Given the description of an element on the screen output the (x, y) to click on. 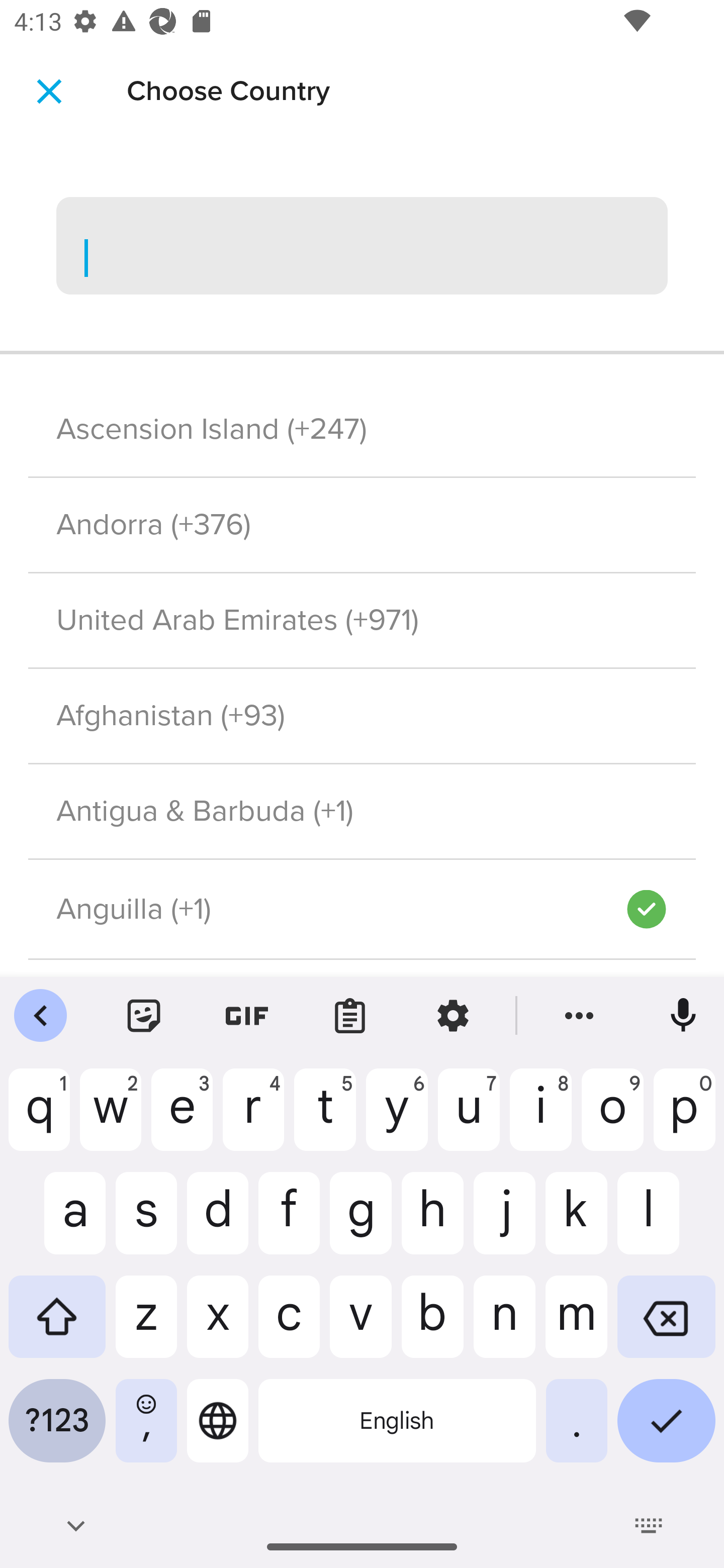
Navigate up (49, 91)
‍Ascension Island (+247) (361, 429)
‍Andorra (+376) (361, 525)
‍United Arab Emirates (+971) (361, 620)
‍Afghanistan (+93) (361, 716)
‍Antigua & Barbuda (+1) (361, 810)
‍Anguilla (+1) (326, 909)
